Given the description of an element on the screen output the (x, y) to click on. 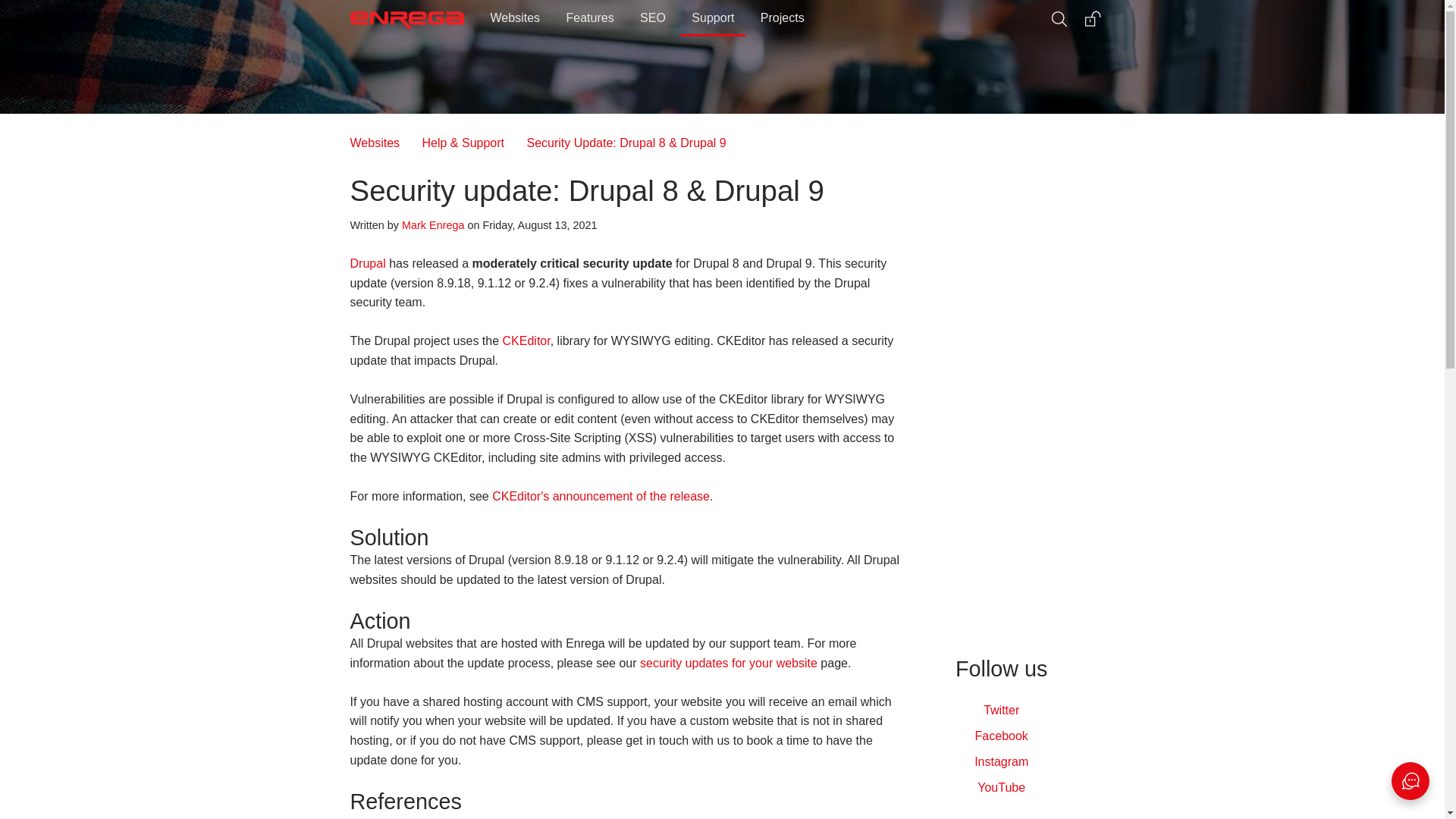
View user profile. (432, 224)
Mark Enrega (432, 224)
Find out more about Drupal (367, 263)
Features (590, 18)
Optimise your content for search engines (652, 18)
Log in (1088, 15)
Find out more about the security fix for CKEditor 4 (601, 495)
Search (1055, 15)
Follow us on Twitter (1001, 709)
Security updates for your Drupal website (728, 662)
Make an enquiry or get help and support (1410, 781)
YouTube (1000, 787)
Log in to this website (1088, 15)
